Given the description of an element on the screen output the (x, y) to click on. 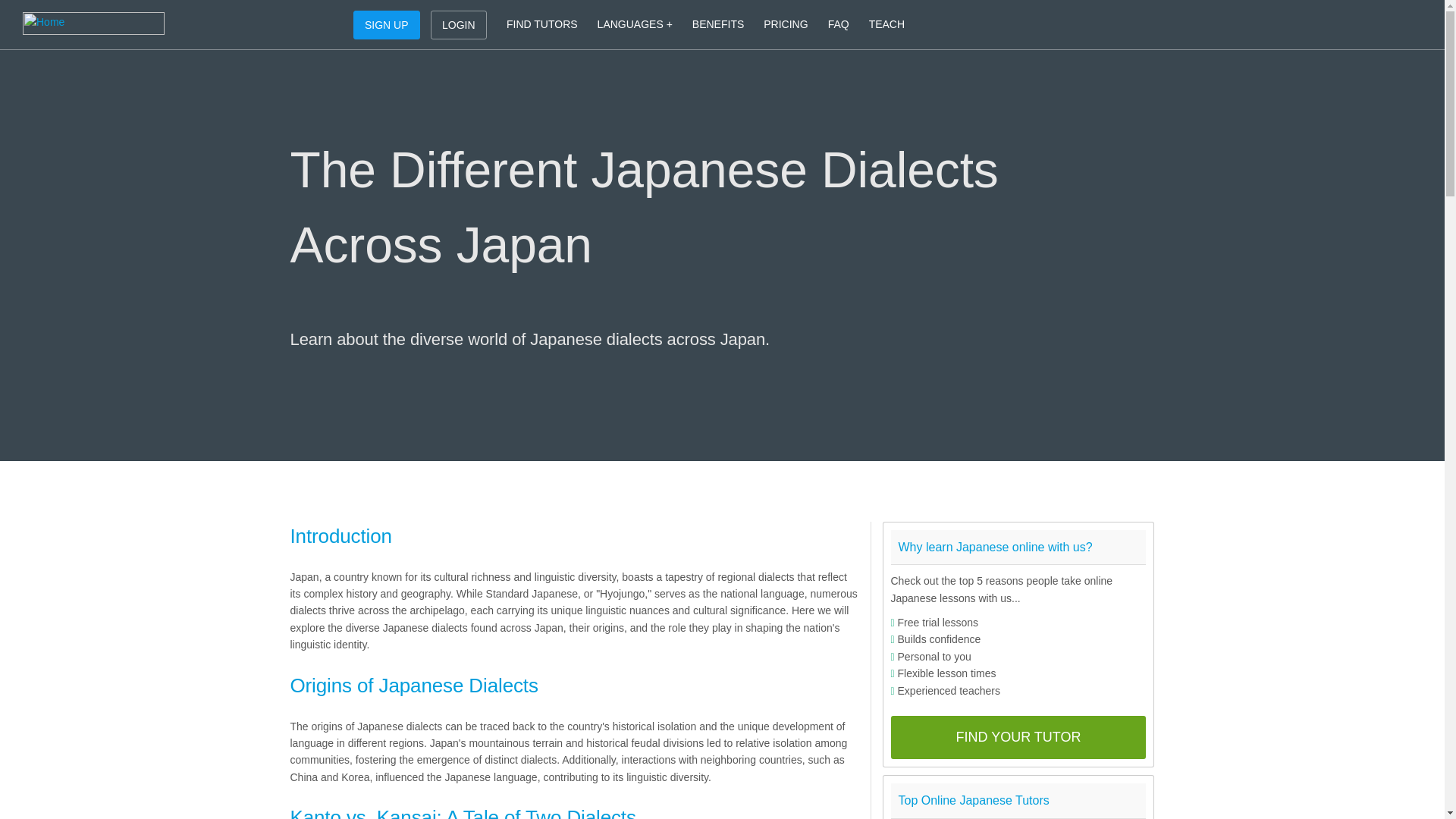
FIND TUTORS (542, 24)
LOGIN (458, 24)
SIGN UP (386, 24)
Home (93, 23)
